Given the description of an element on the screen output the (x, y) to click on. 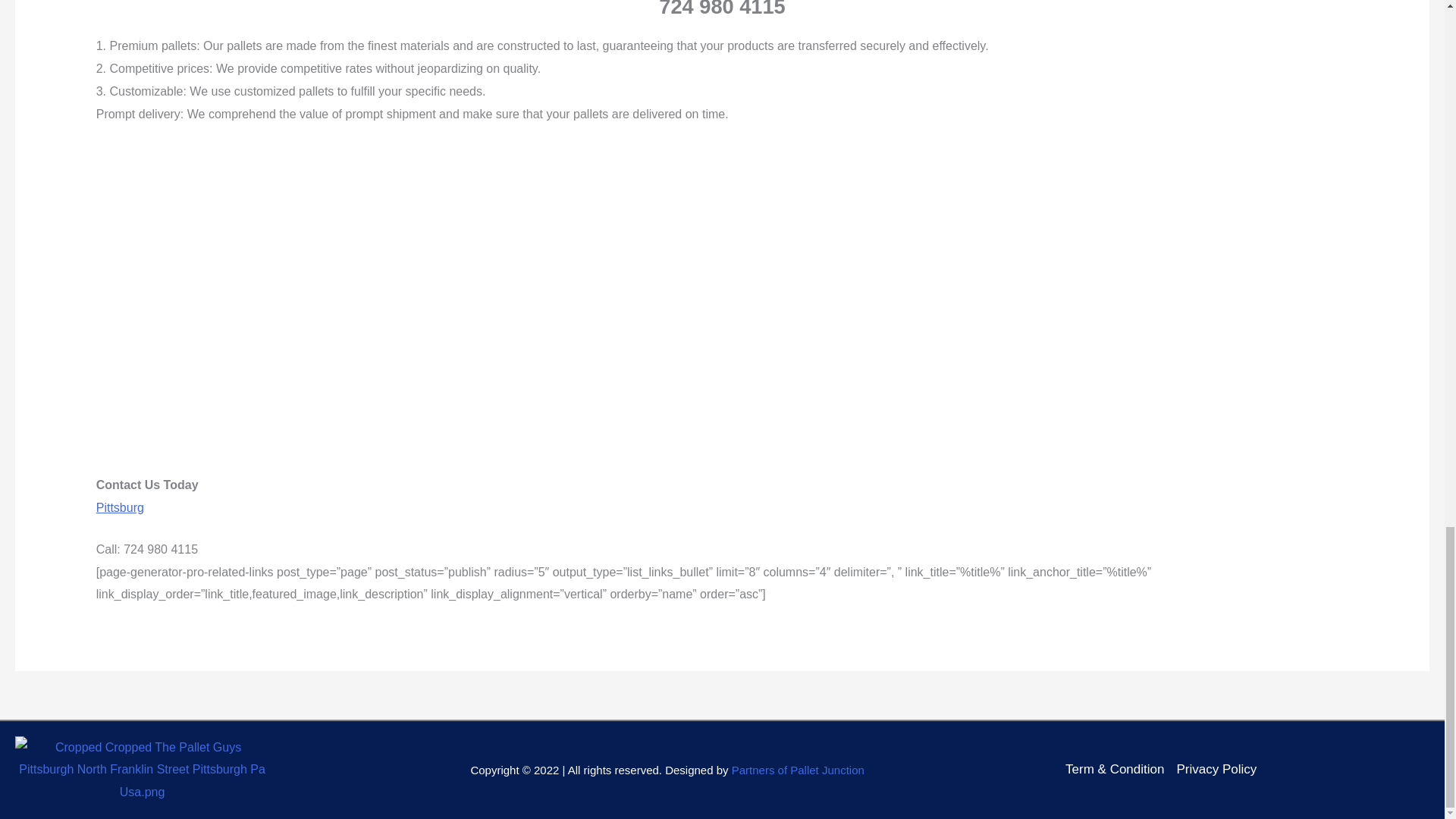
Privacy Policy (1216, 769)
Partners of Pallet Junction (798, 769)
Pittsburg (120, 507)
